Given the description of an element on the screen output the (x, y) to click on. 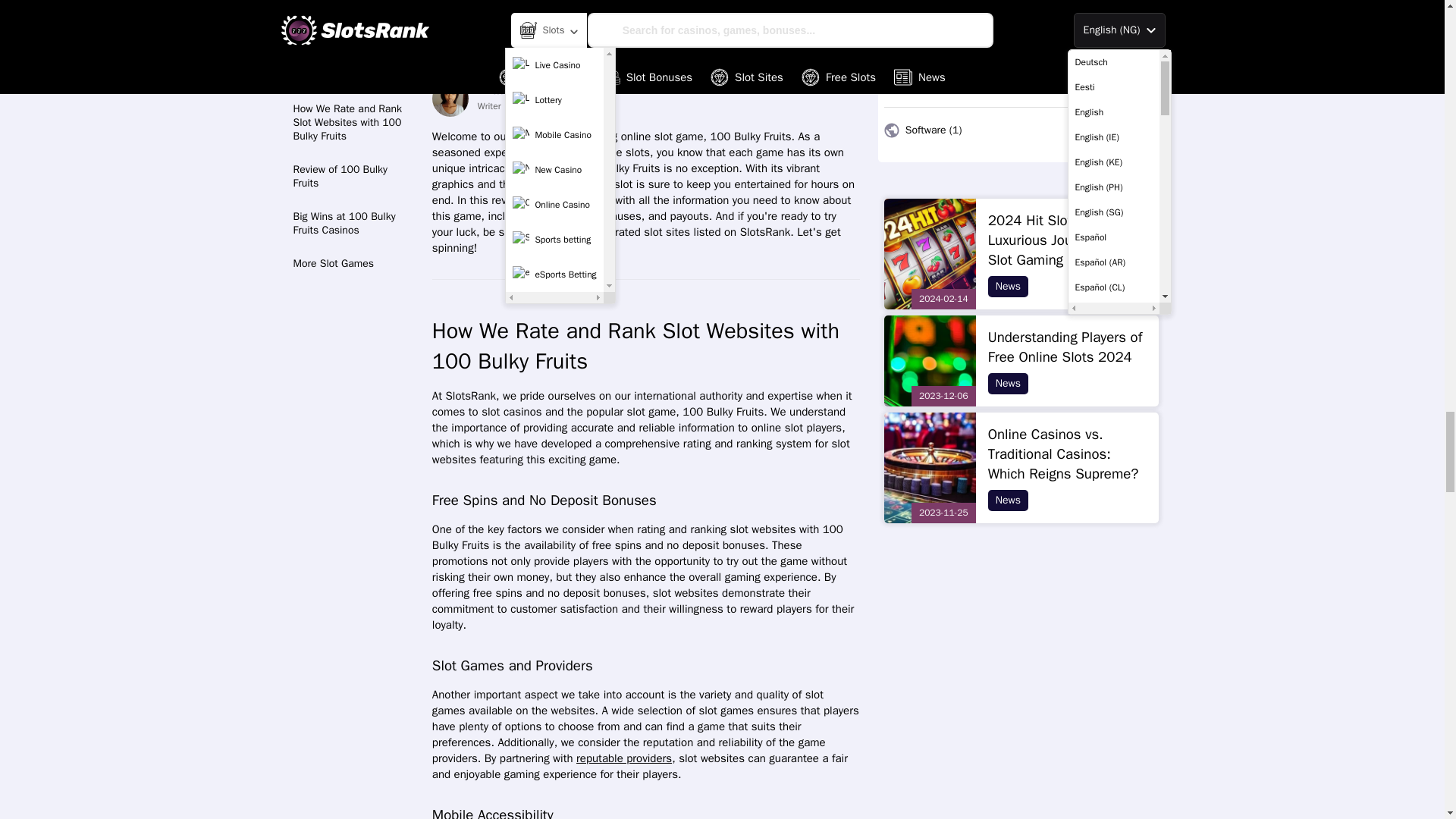
How We Rate and Rank Slot Websites with 100 Bulky Fruits (352, 110)
Big Wins at 100 Bulky Fruits Casinos (352, 210)
More Slot Games (352, 251)
Review of 100 Bulky Fruits (352, 164)
